Given the description of an element on the screen output the (x, y) to click on. 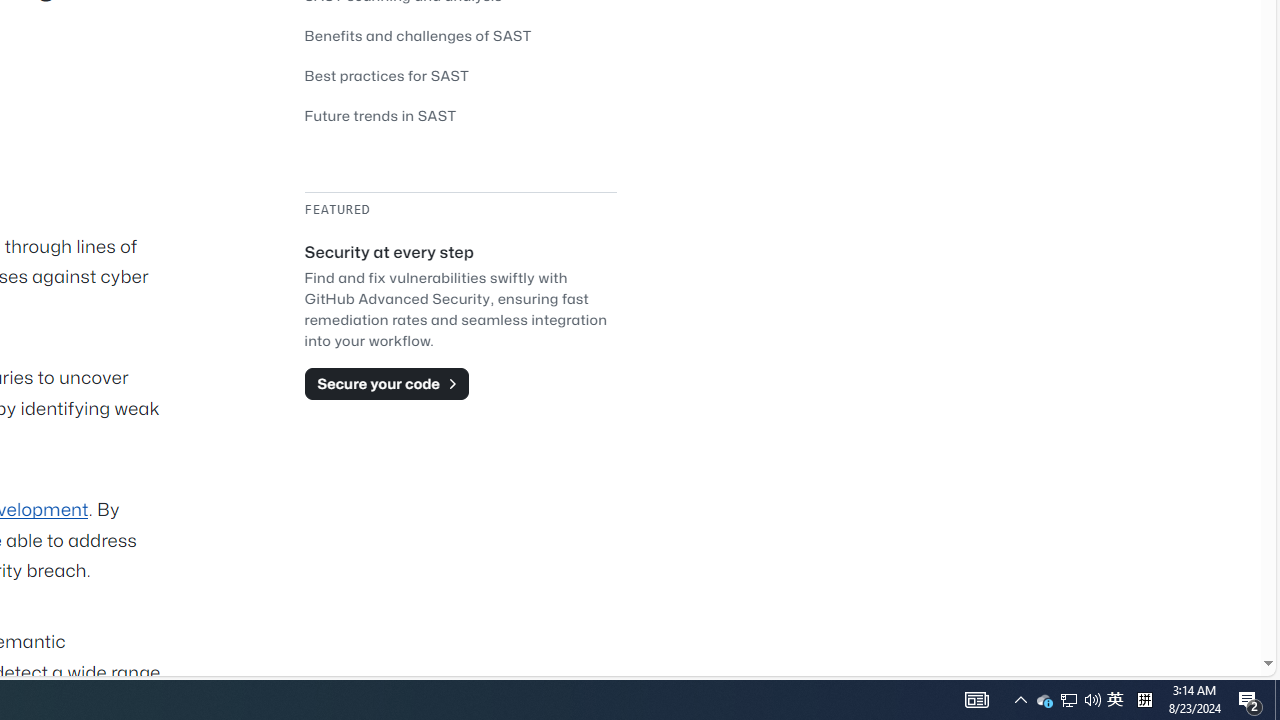
Secure your code (386, 383)
Benefits and challenges of SAST (460, 35)
Benefits and challenges of SAST (418, 35)
Best practices for SAST (460, 75)
Future trends in SAST (460, 115)
Future trends in SAST (380, 115)
Best practices for SAST (386, 75)
